Given the description of an element on the screen output the (x, y) to click on. 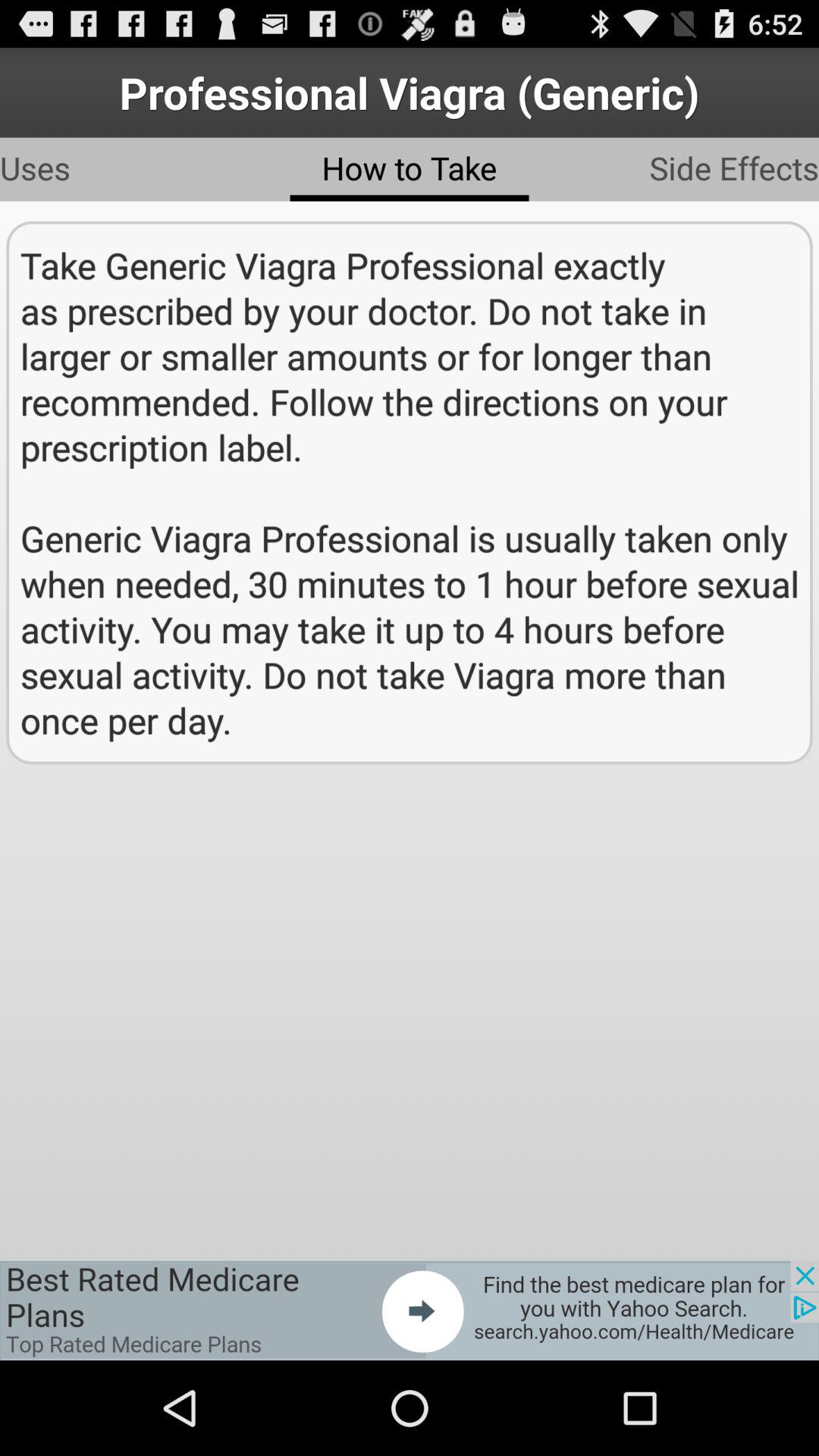
advertisement (409, 1310)
